Given the description of an element on the screen output the (x, y) to click on. 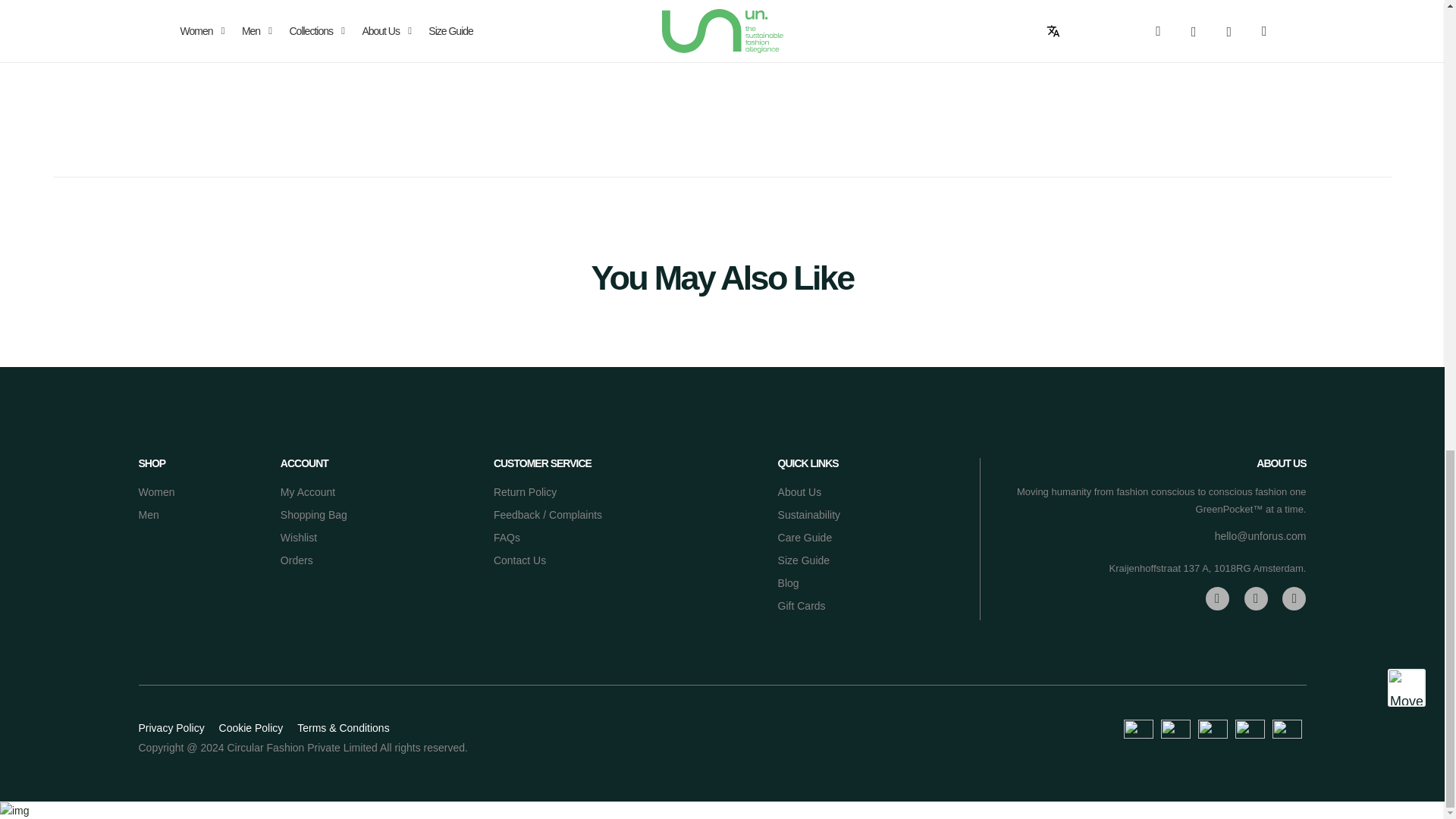
Privacy Policy (170, 727)
Add to Wishlist (907, 20)
faq's (506, 537)
Cookie Policy (251, 727)
